Given the description of an element on the screen output the (x, y) to click on. 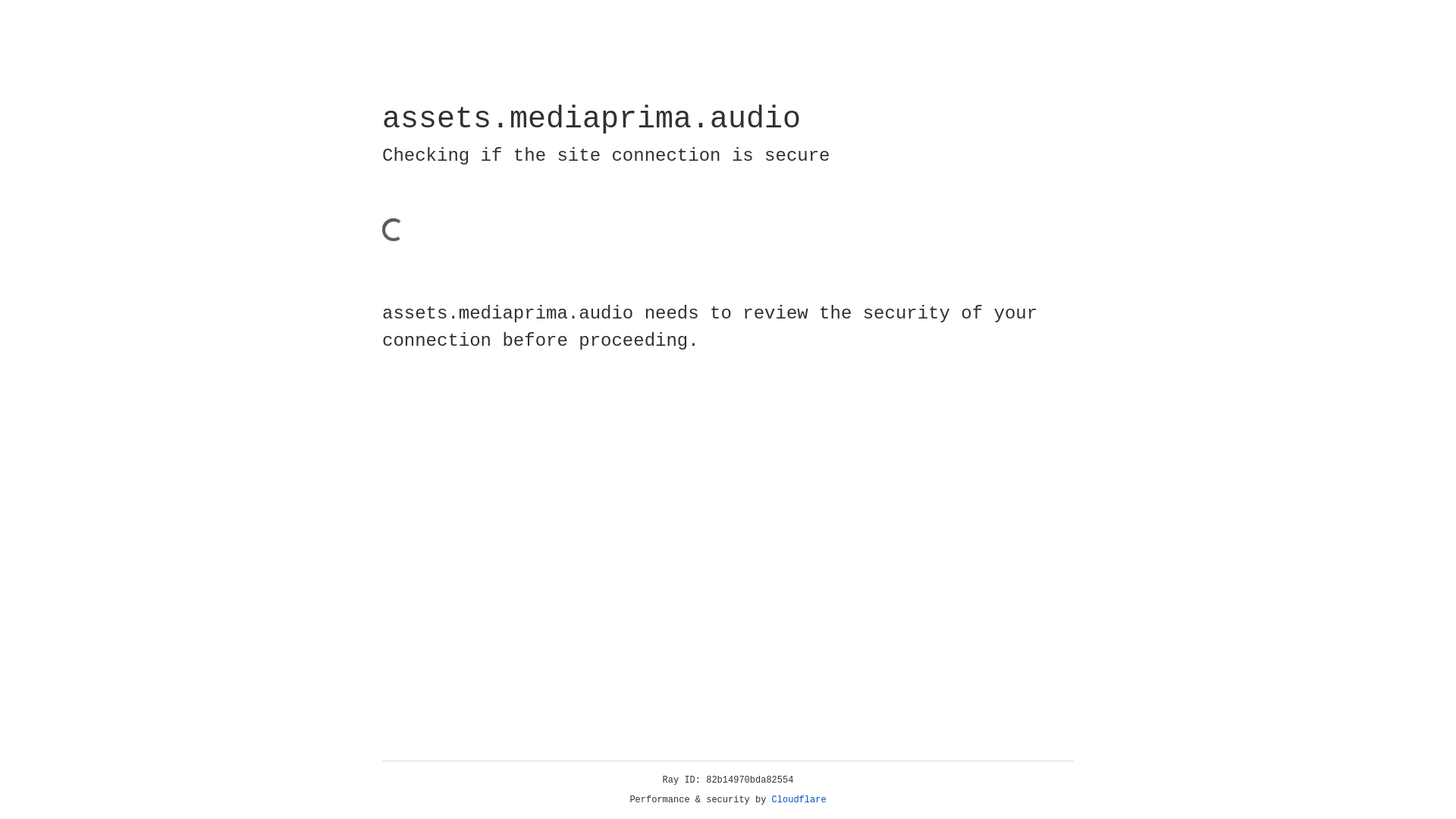
Cloudflare Element type: text (798, 799)
